Given the description of an element on the screen output the (x, y) to click on. 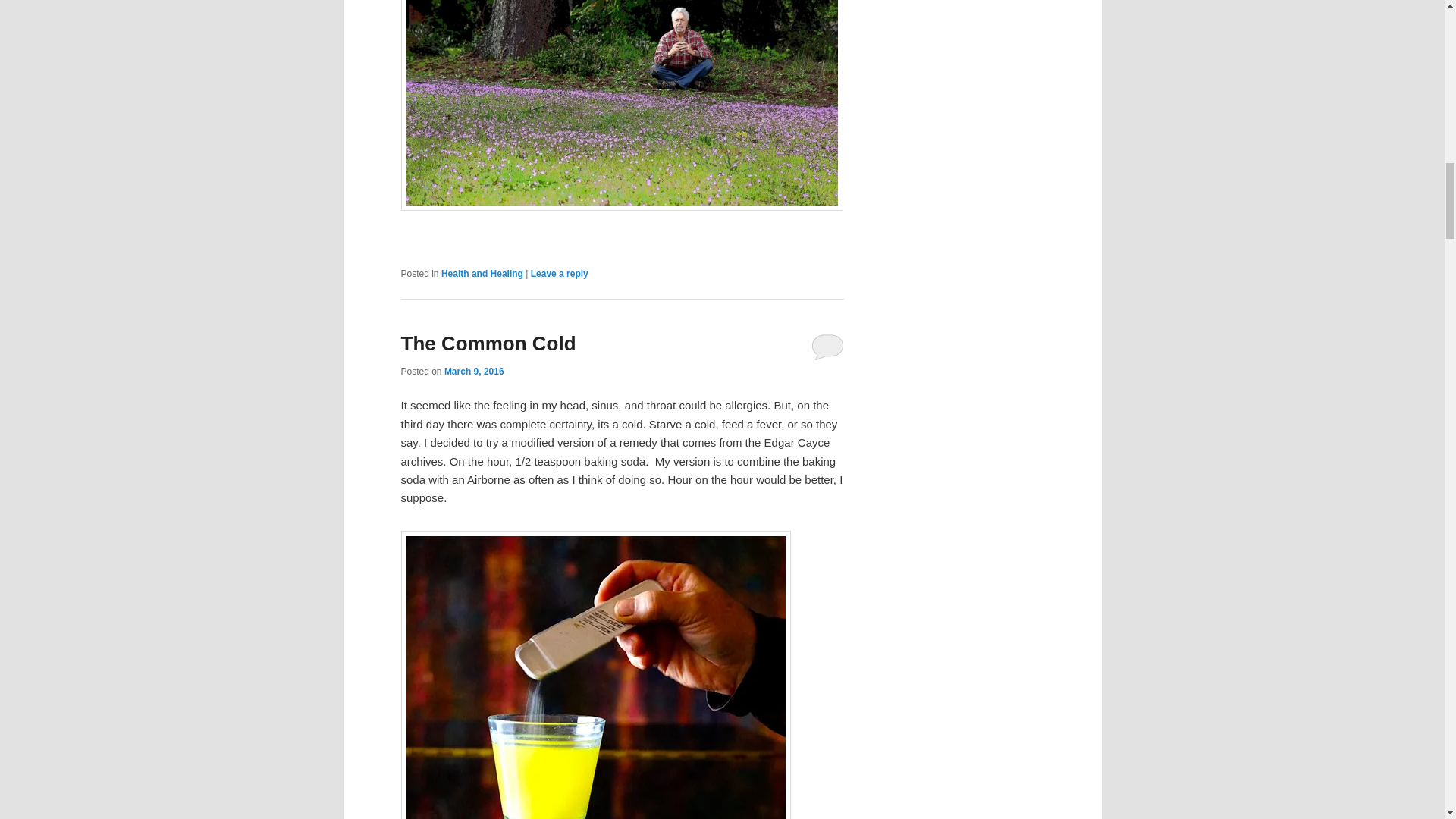
5:11 pm (473, 371)
Health and Healing (481, 273)
The Common Cold (487, 343)
Leave a reply (559, 273)
March 9, 2016 (473, 371)
